Given the description of an element on the screen output the (x, y) to click on. 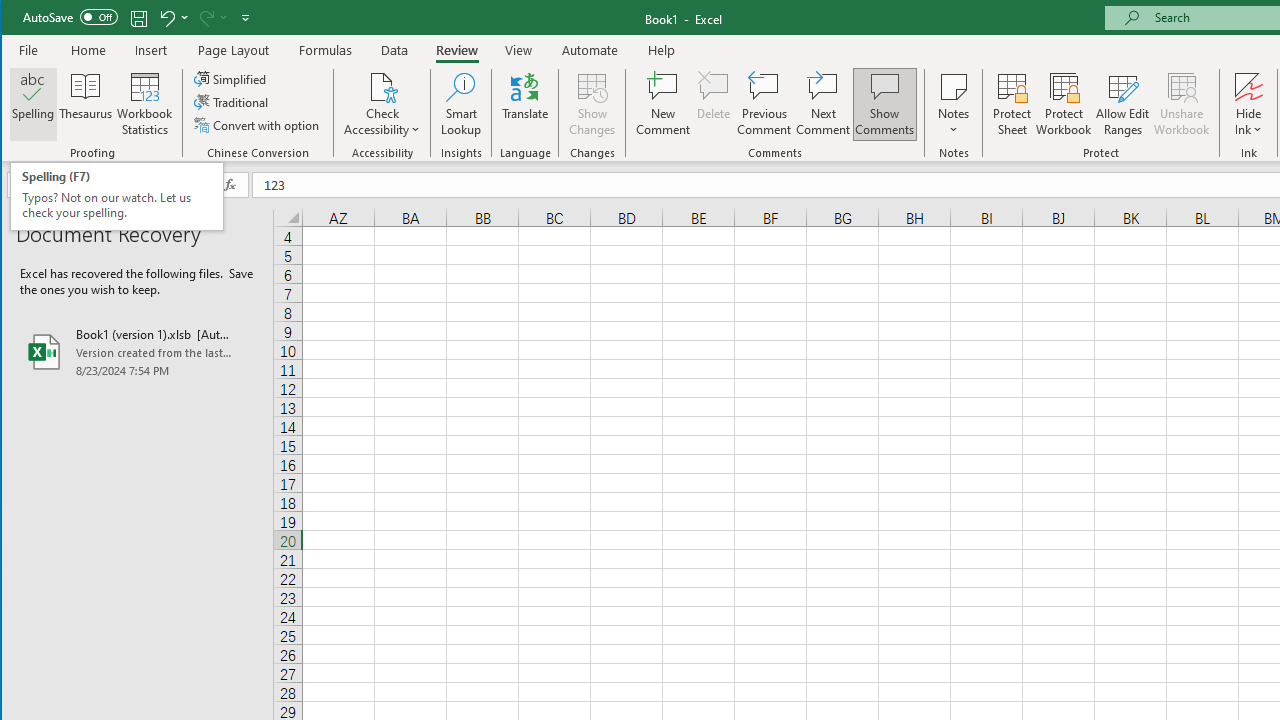
Delete (713, 104)
Convert with option (258, 124)
